Given the description of an element on the screen output the (x, y) to click on. 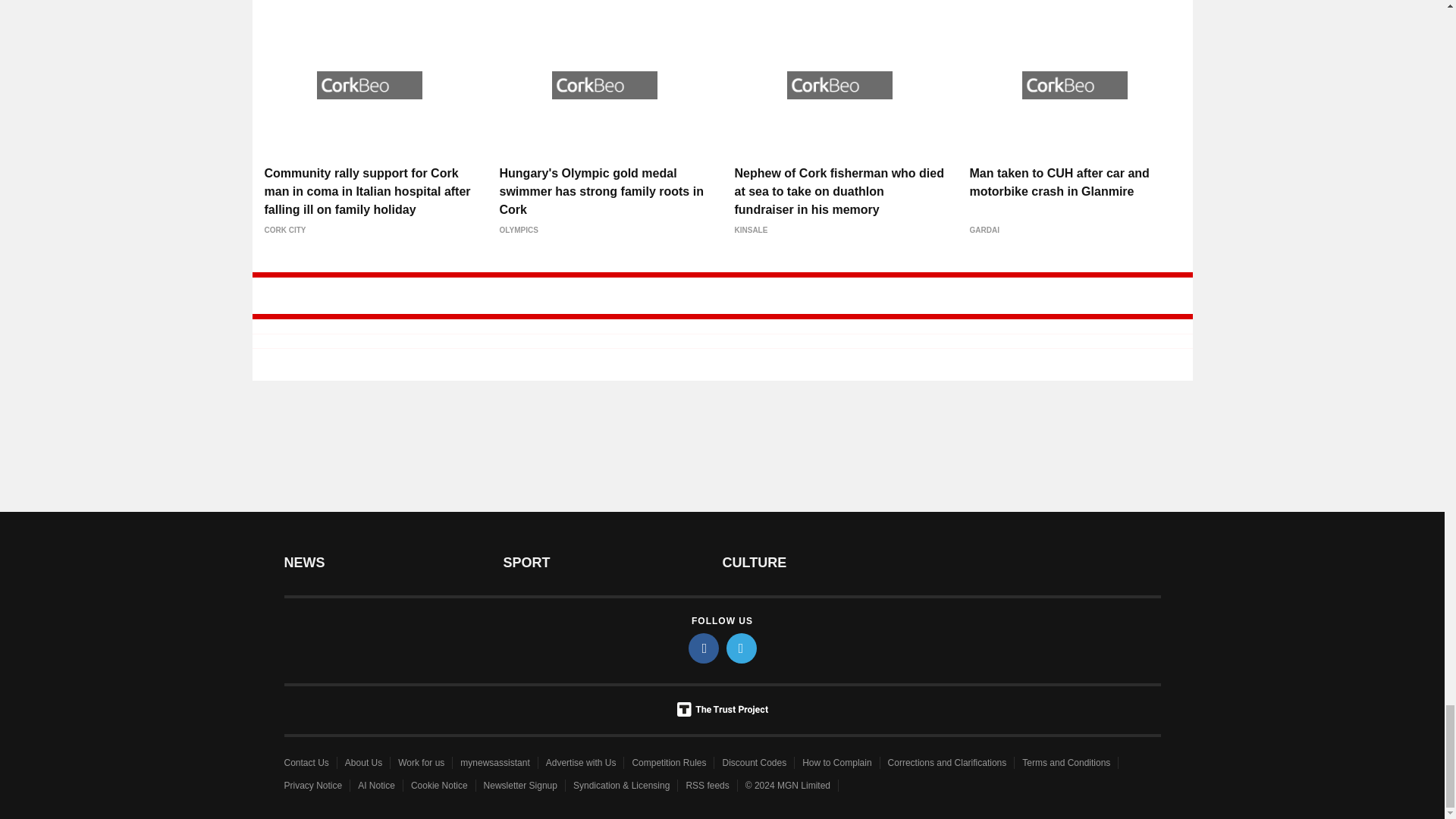
twitter (741, 648)
facebook (703, 648)
